Given the description of an element on the screen output the (x, y) to click on. 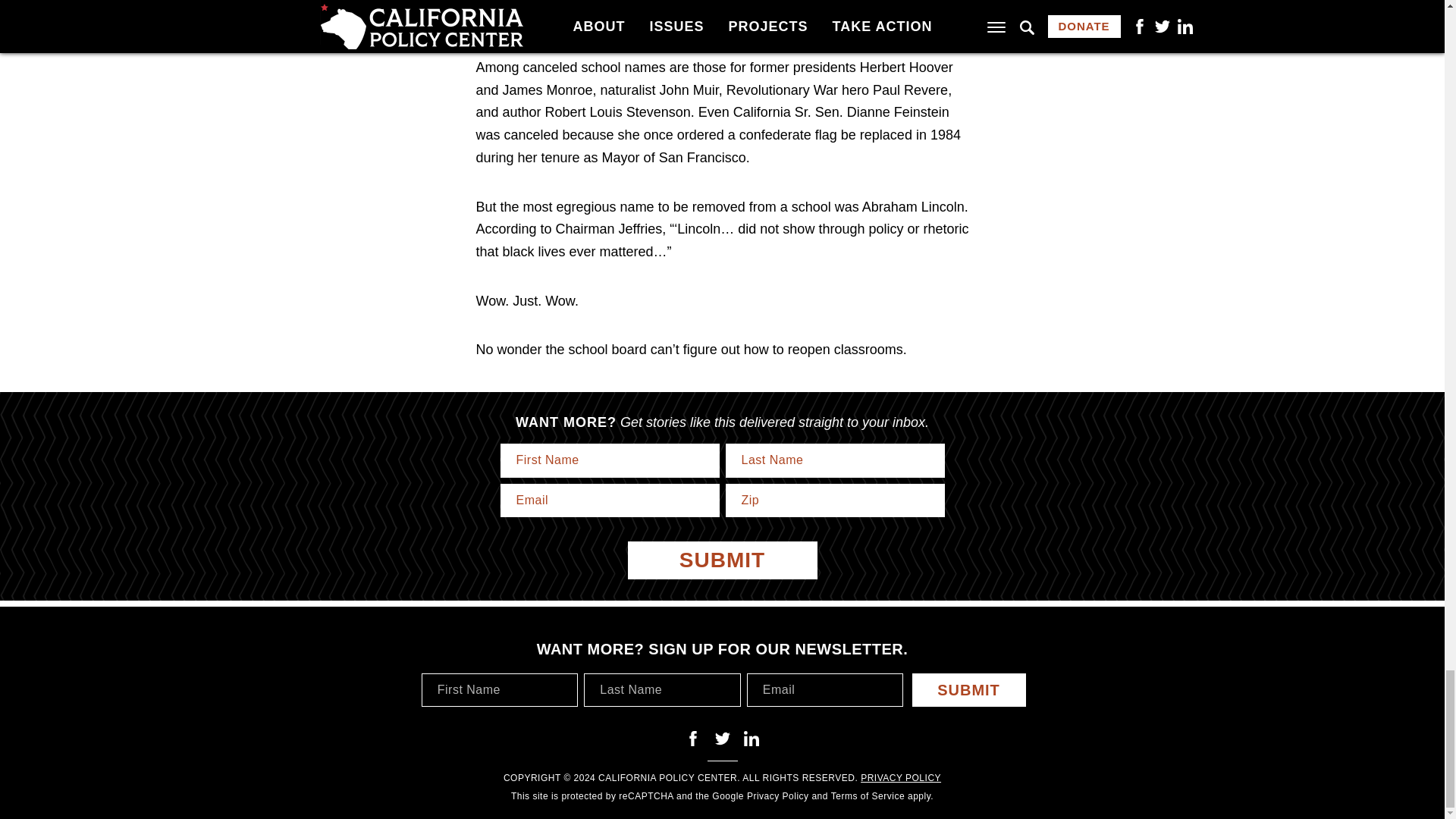
Submit (968, 689)
Submit (721, 560)
